Given the description of an element on the screen output the (x, y) to click on. 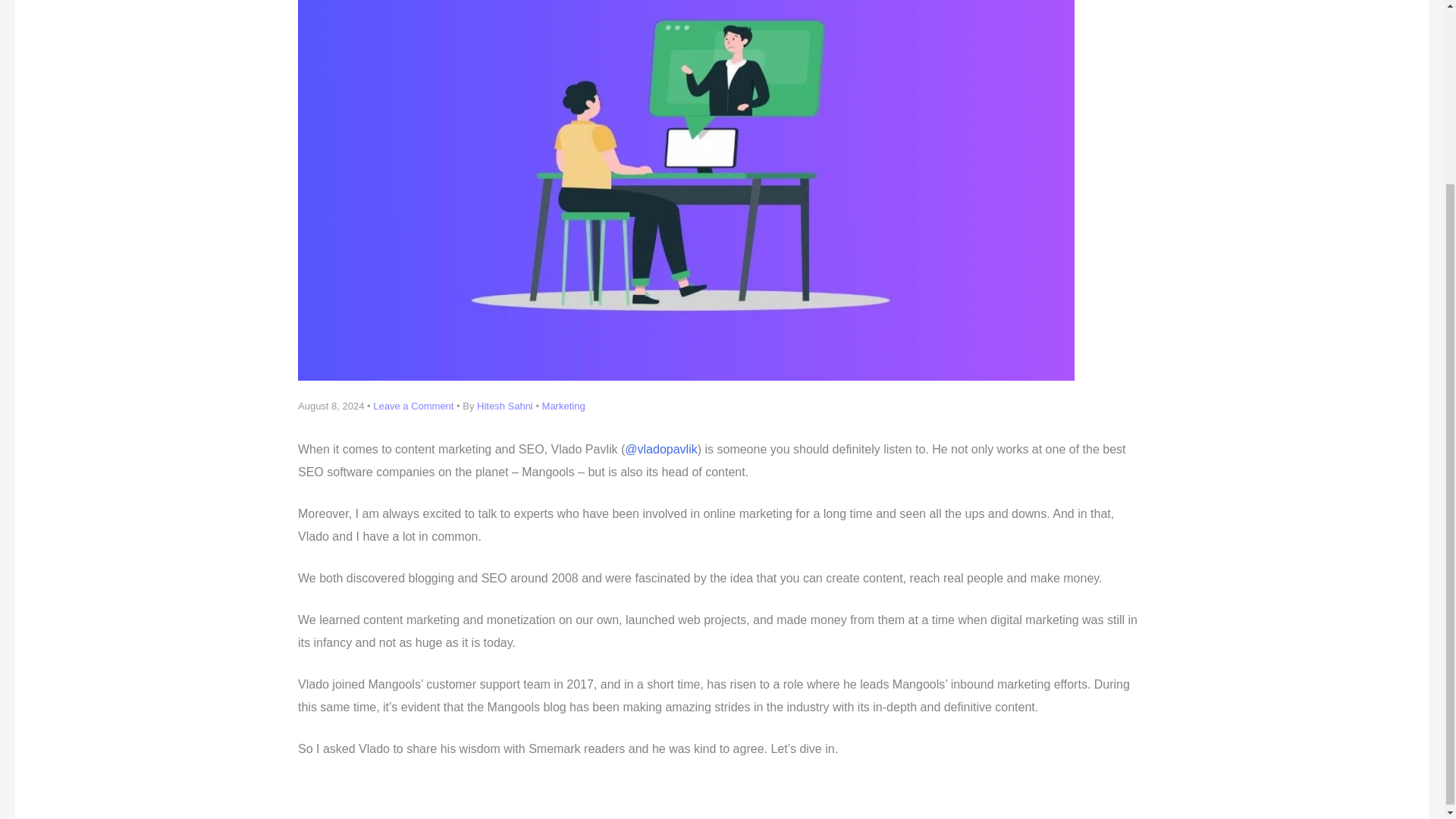
Hitesh Sahni (506, 405)
Leave a Comment (412, 405)
View all posts by Hitesh Sahni (506, 405)
Marketing (563, 405)
